Given the description of an element on the screen output the (x, y) to click on. 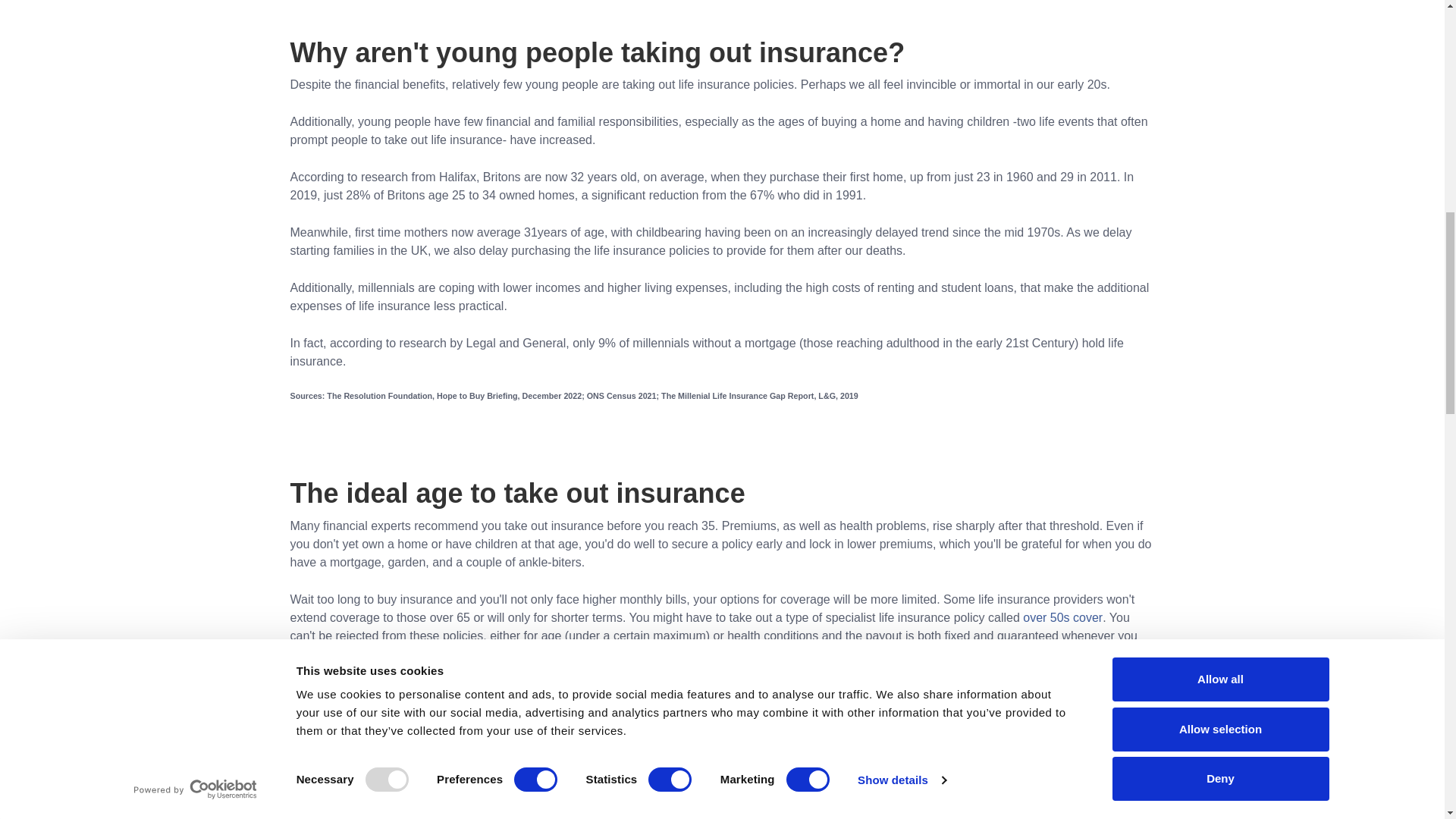
life insurance for over 50s (1062, 617)
